Given the description of an element on the screen output the (x, y) to click on. 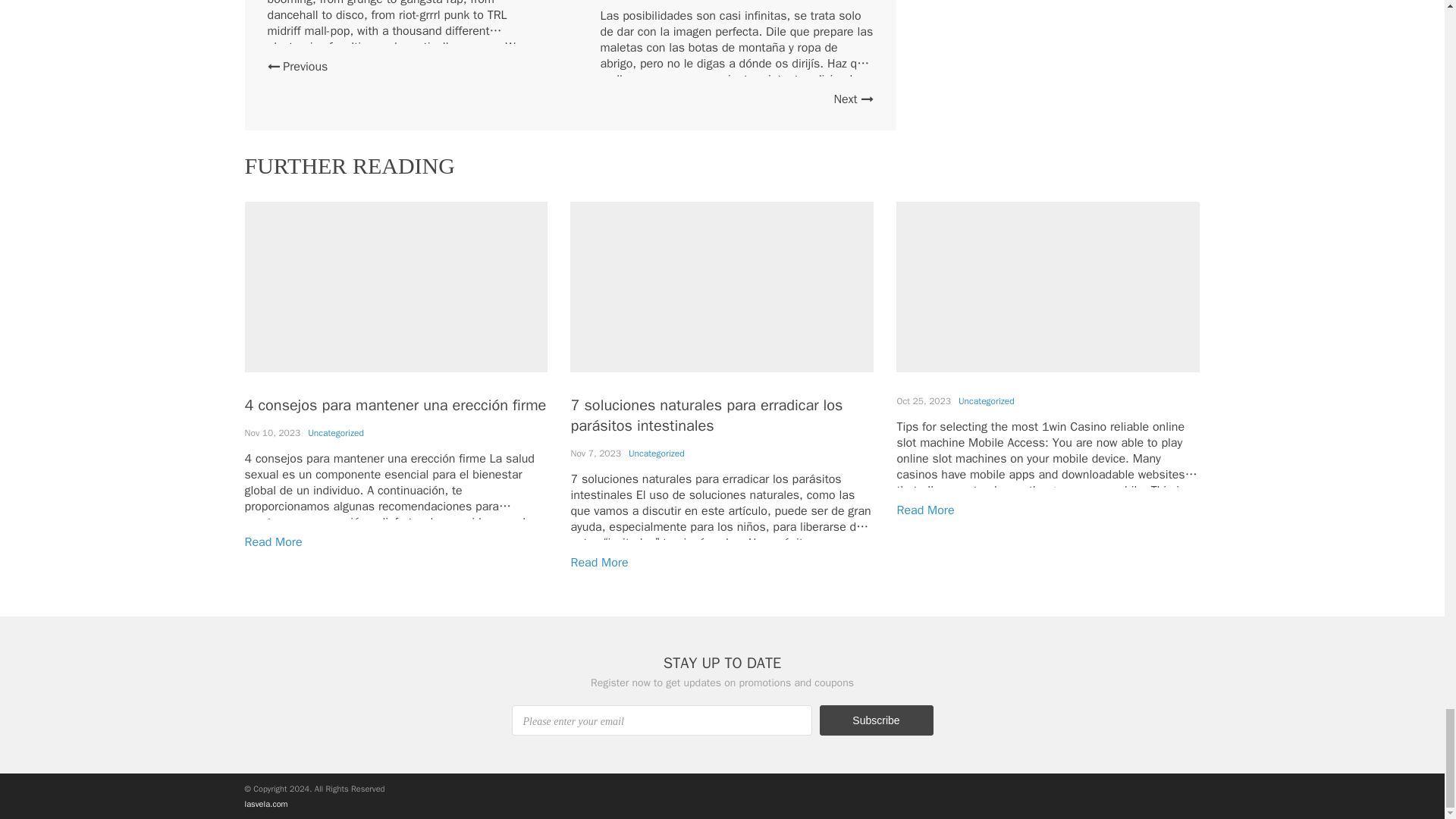
Subscribe (875, 720)
